Given the description of an element on the screen output the (x, y) to click on. 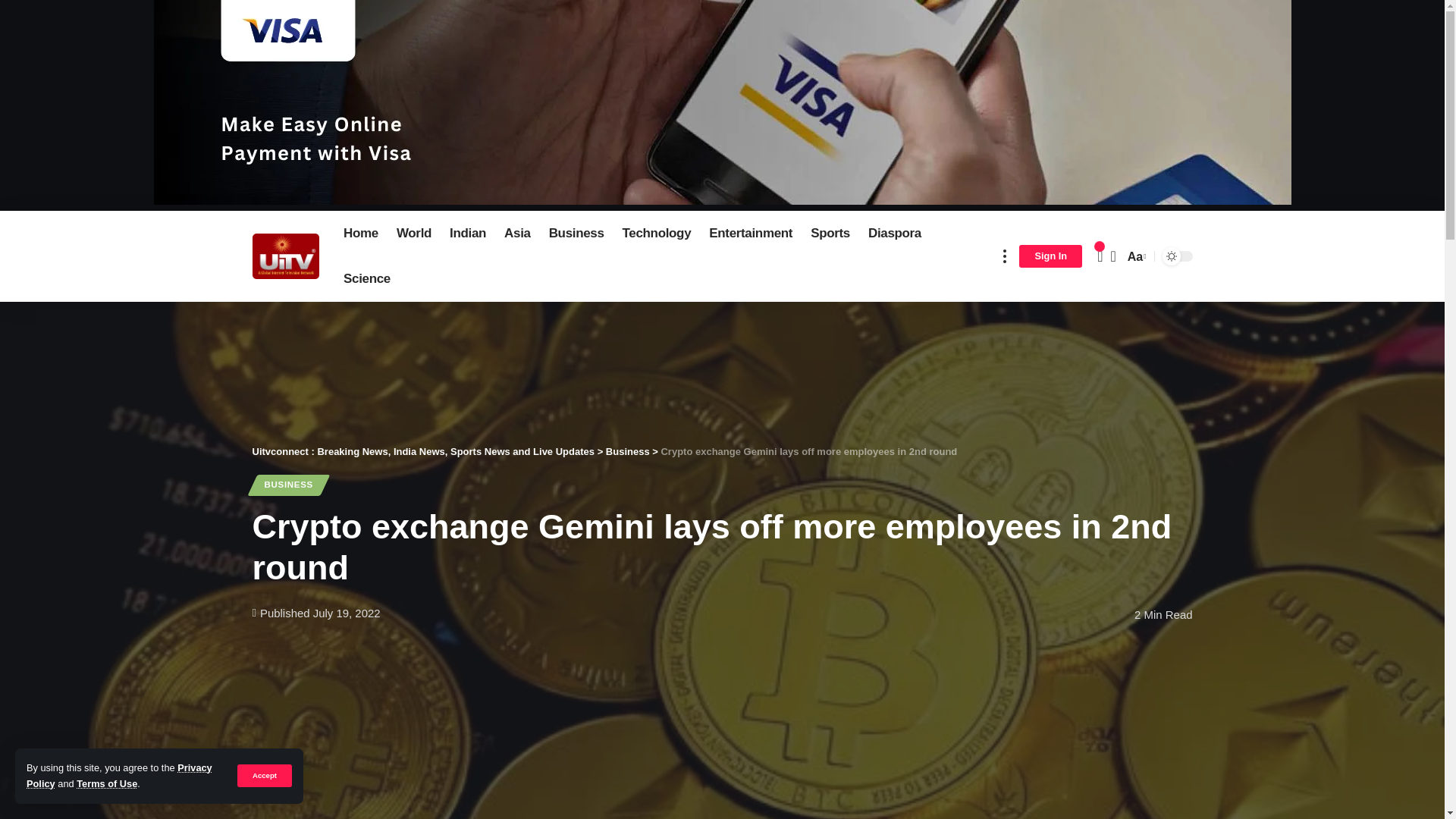
Home (360, 233)
Science (366, 279)
Asia (517, 233)
Diaspora (894, 233)
Sports (830, 233)
Indian (468, 233)
Entertainment (751, 233)
Go to the Business Category archives. (627, 451)
Accept (264, 775)
Terms of Use (106, 783)
Business (576, 233)
Technology (656, 233)
World (414, 233)
